Given the description of an element on the screen output the (x, y) to click on. 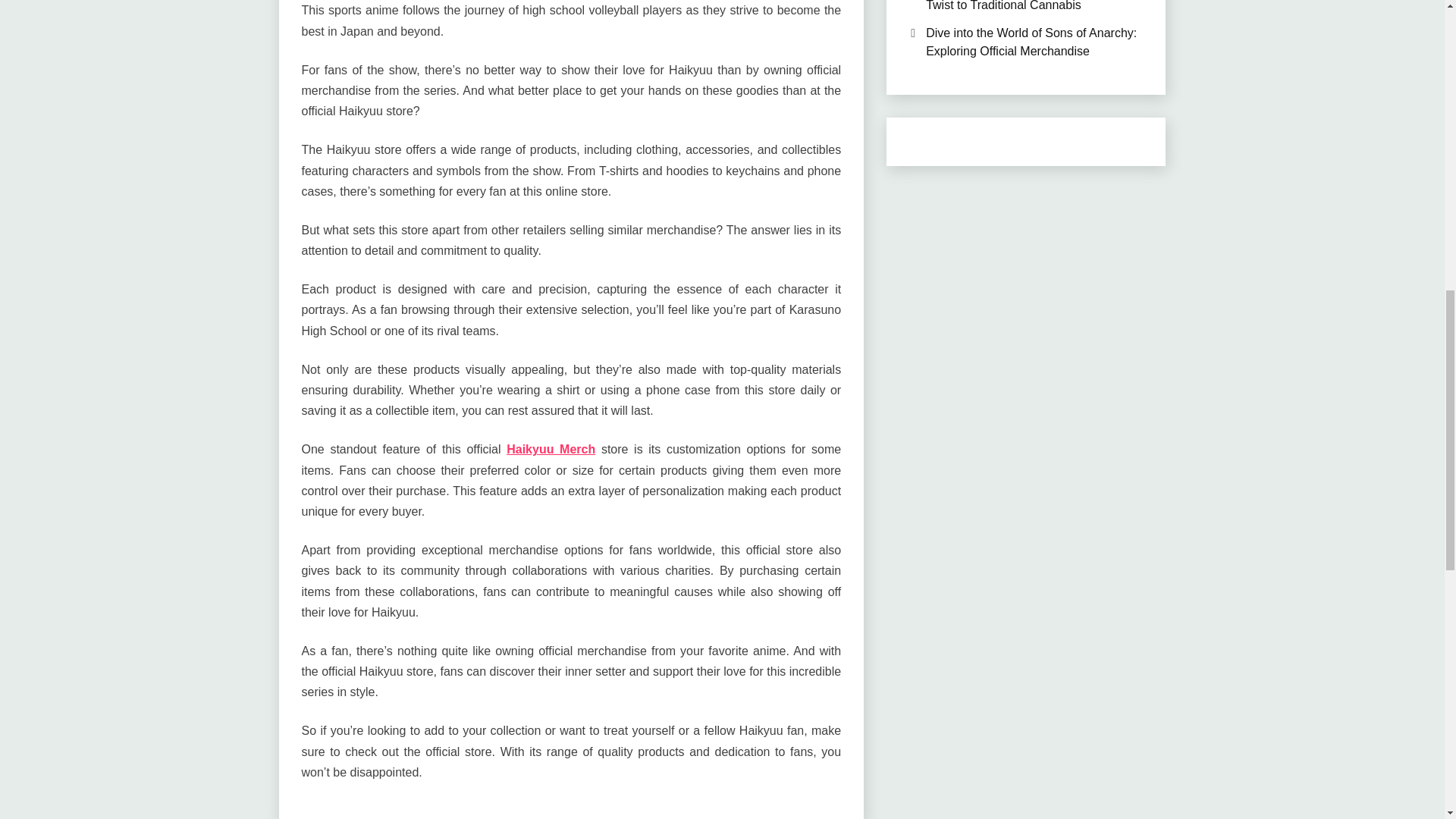
Haikyuu Merch (550, 449)
